Given the description of an element on the screen output the (x, y) to click on. 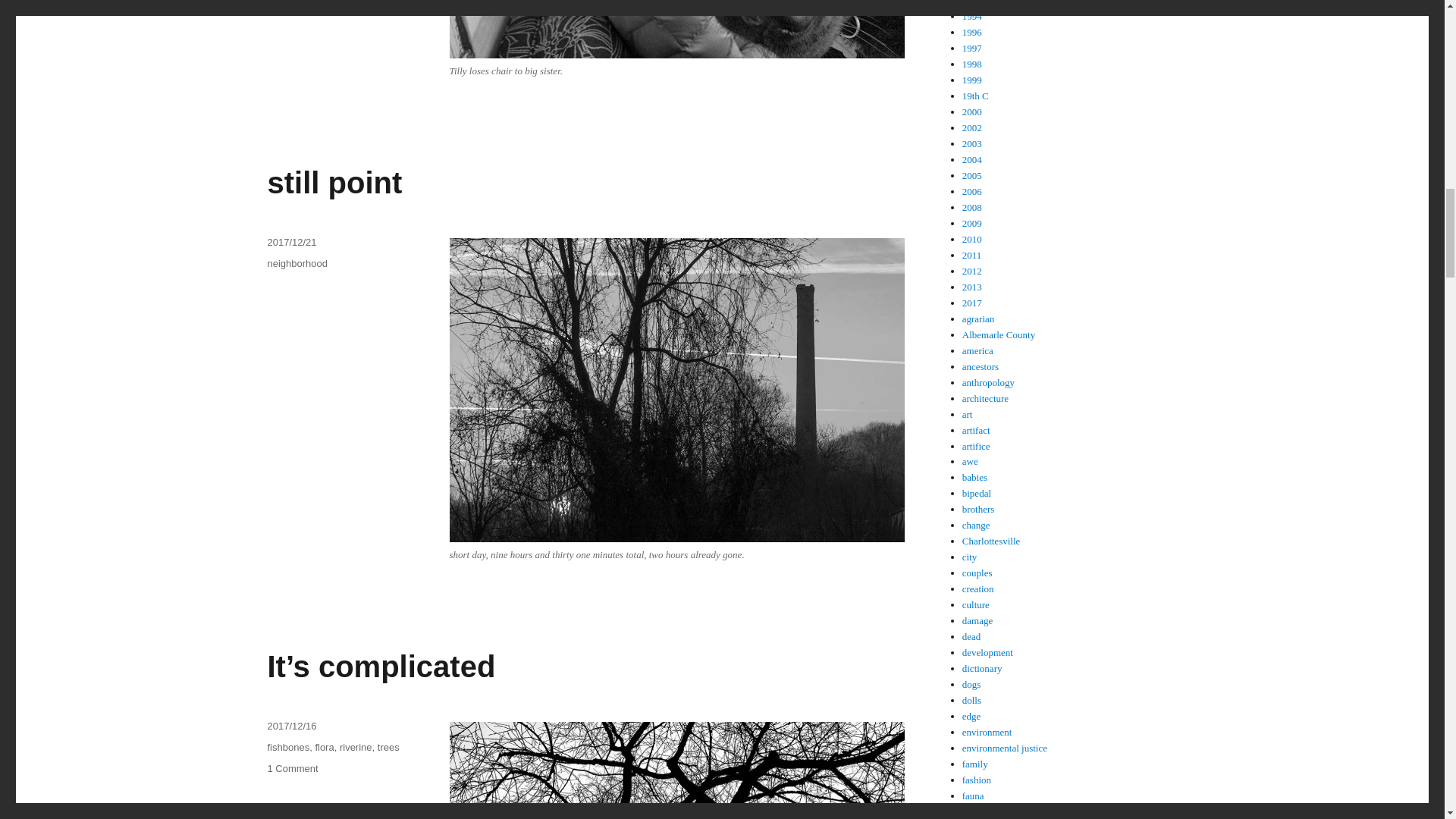
trees (387, 747)
fishbones (287, 747)
still point (333, 182)
flora (323, 747)
neighborhood (296, 263)
riverine (355, 747)
